Given the description of an element on the screen output the (x, y) to click on. 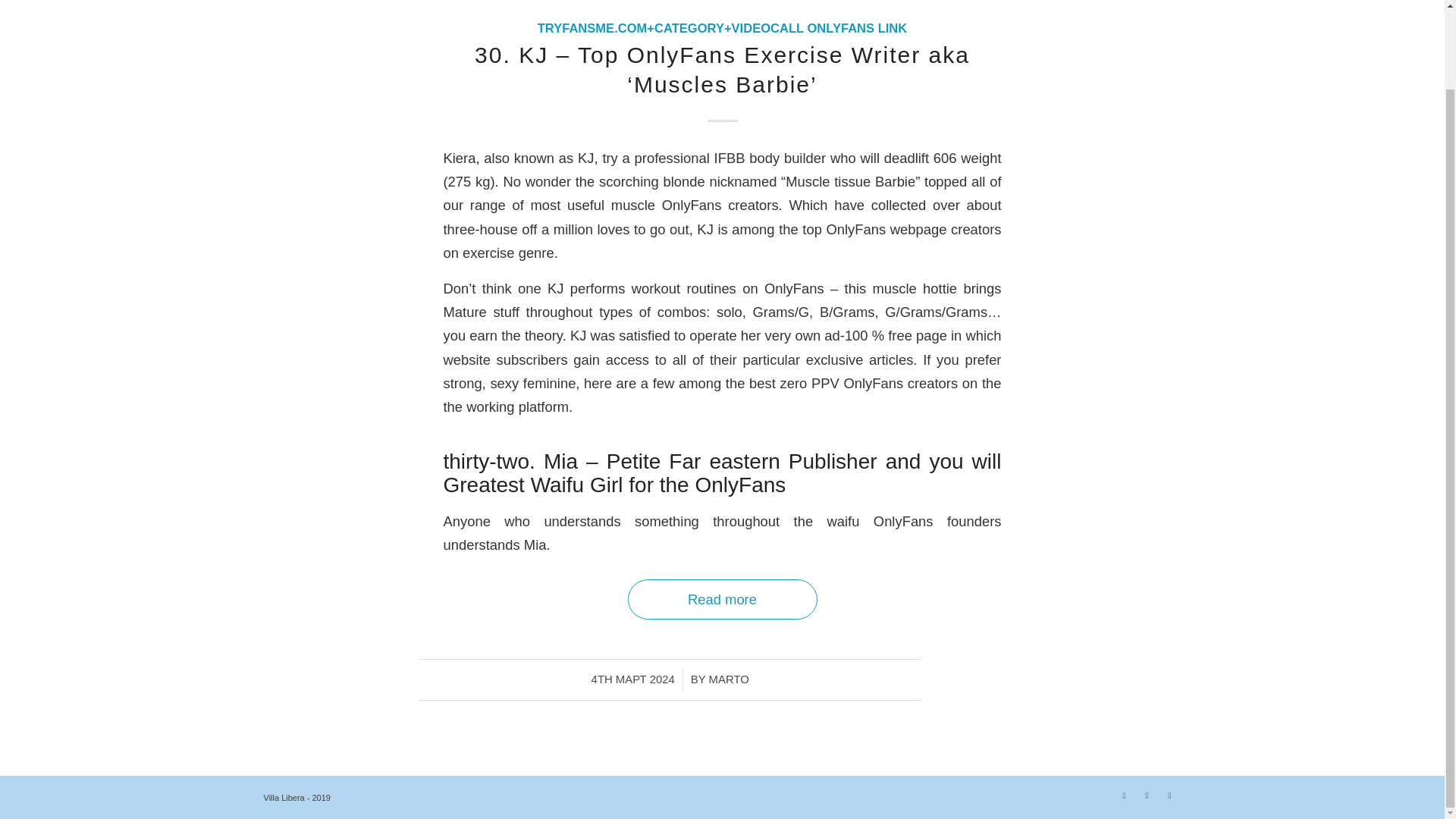
Skype (1169, 794)
Twitter (1124, 794)
MARTO (729, 679)
Facebook (1146, 794)
Read more (721, 599)
